Given the description of an element on the screen output the (x, y) to click on. 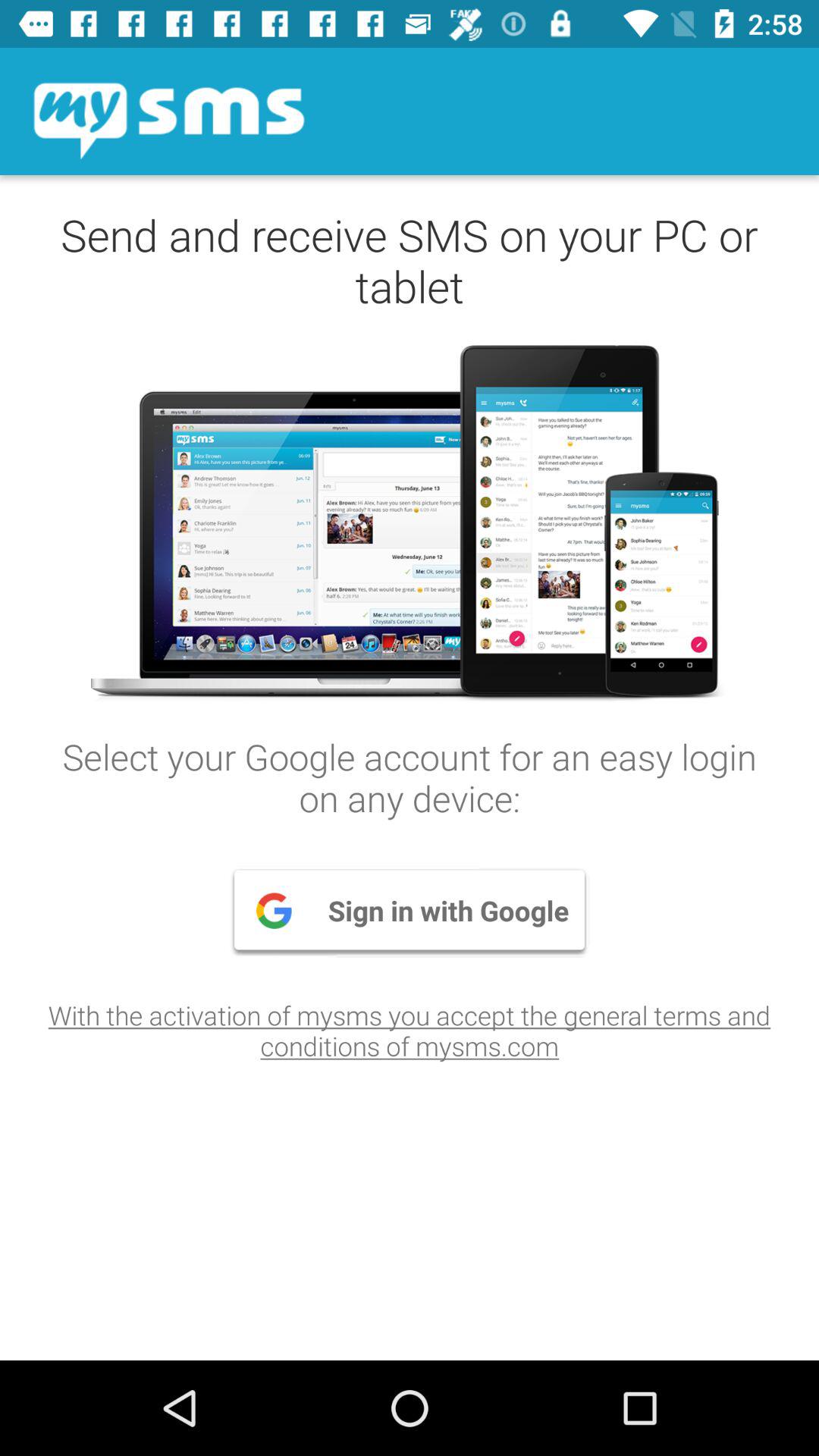
press the item below the sign in with icon (409, 1030)
